Given the description of an element on the screen output the (x, y) to click on. 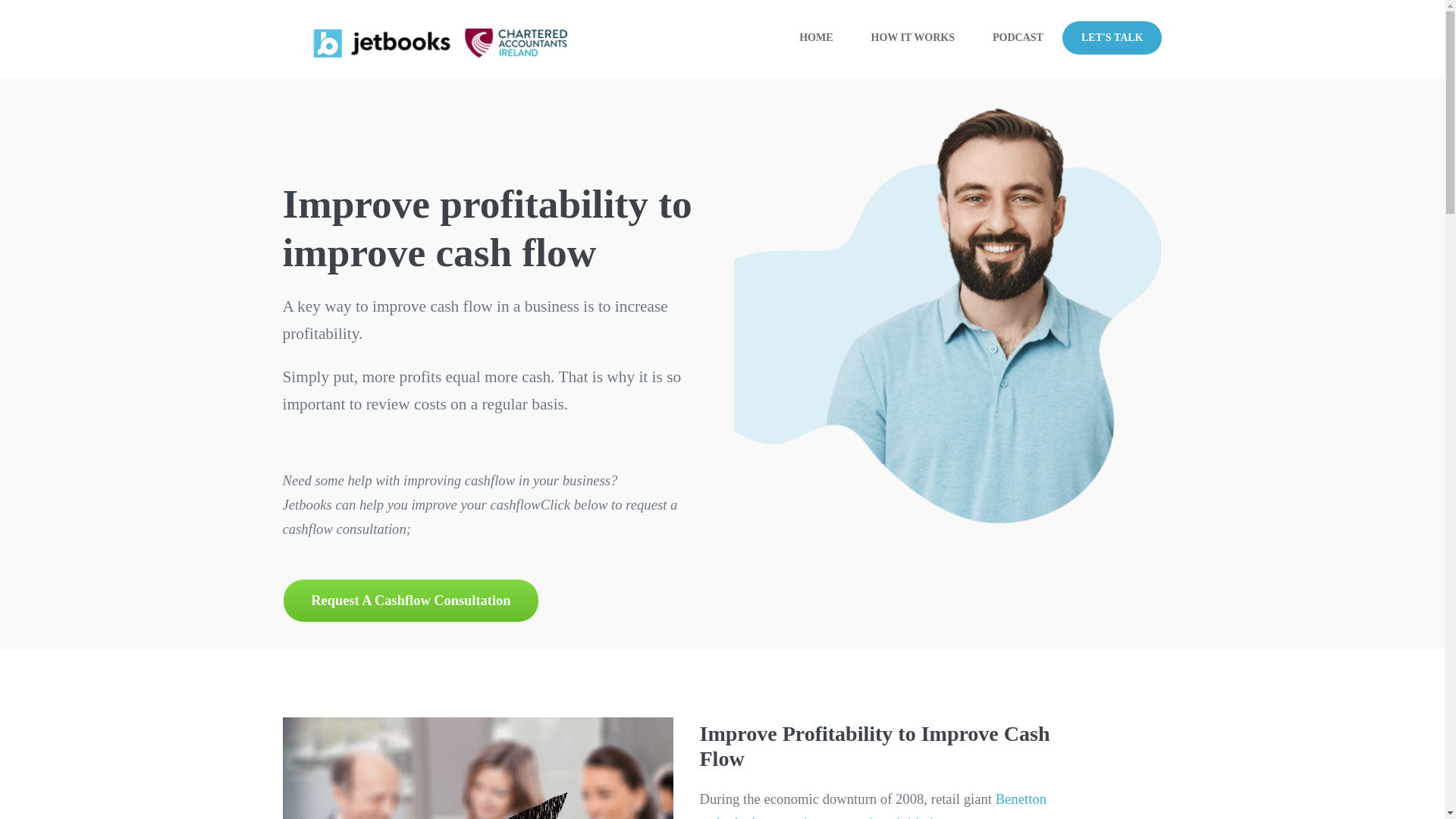
Request A Cashflow Consultation (410, 599)
Benetton embarked on a major cost-savings initiative (872, 805)
HOW IT WORKS (912, 38)
PODCAST (1018, 38)
LET'S TALK (1111, 37)
HOME (815, 38)
